Given the description of an element on the screen output the (x, y) to click on. 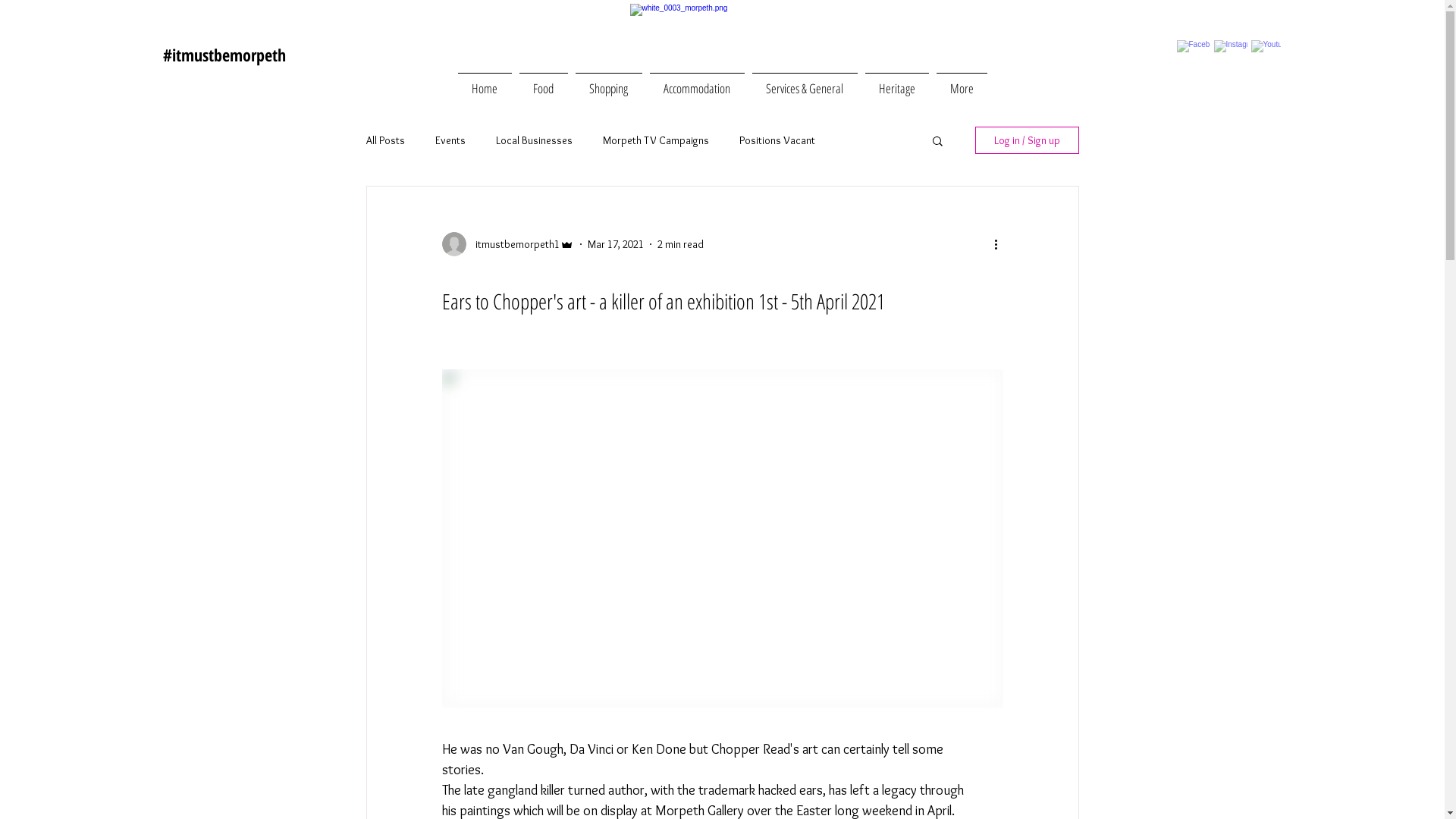
Home Element type: text (483, 81)
Accommodation Element type: text (697, 81)
Food Element type: text (543, 81)
#itmustbemorpeth Element type: text (223, 54)
Heritage Element type: text (896, 81)
Services & General Element type: text (803, 81)
Log in / Sign up Element type: text (1027, 139)
Shopping Element type: text (608, 81)
